Given the description of an element on the screen output the (x, y) to click on. 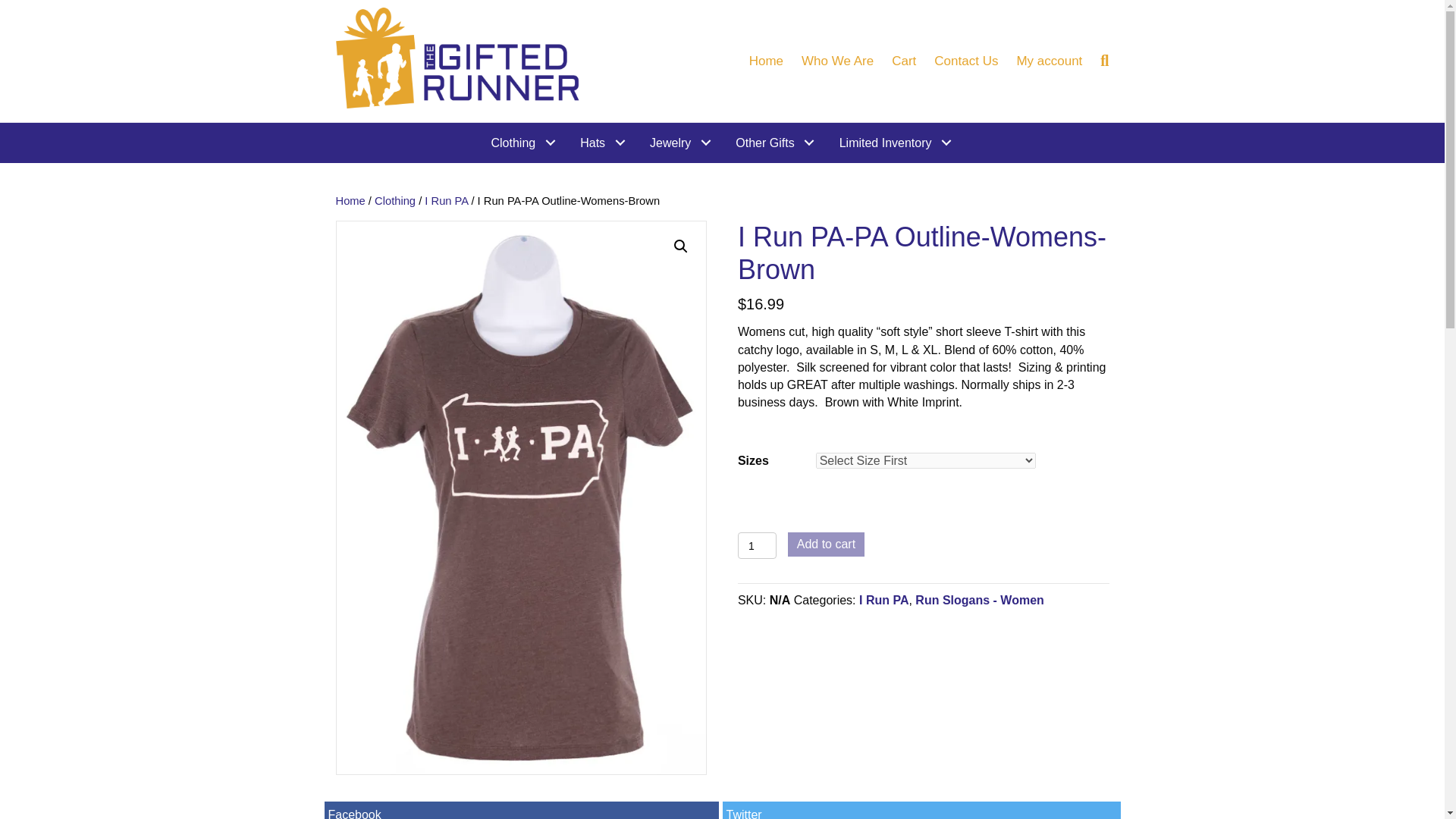
1 (757, 545)
Other Gifts (775, 142)
Who We Are (837, 60)
Clothing (524, 142)
Contact Us (965, 60)
Hats (604, 142)
Home (765, 60)
Qty (757, 545)
Jewelry (681, 142)
My account (1048, 60)
